Given the description of an element on the screen output the (x, y) to click on. 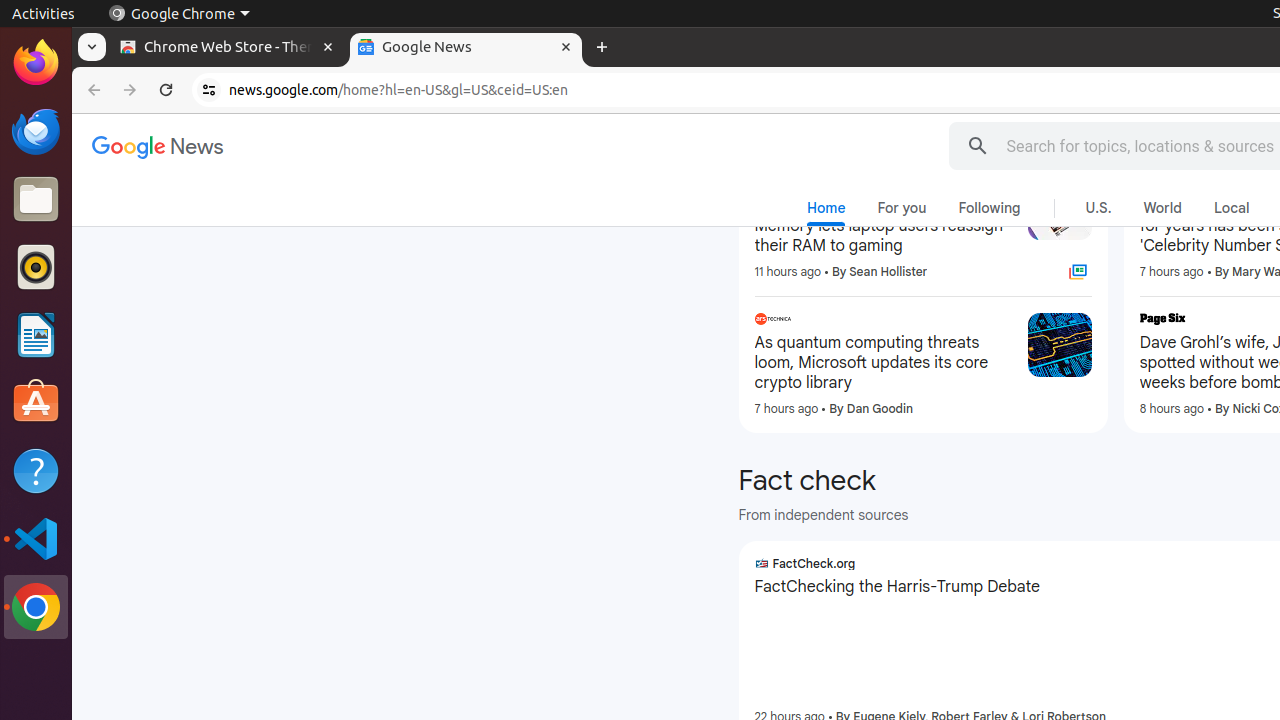
Search Element type: push-button (977, 146)
New Tab Element type: push-button (602, 47)
Google Chrome Element type: menu (179, 13)
LibreOffice Writer Element type: push-button (36, 334)
U.S. Element type: menu-item (1098, 208)
